Given the description of an element on the screen output the (x, y) to click on. 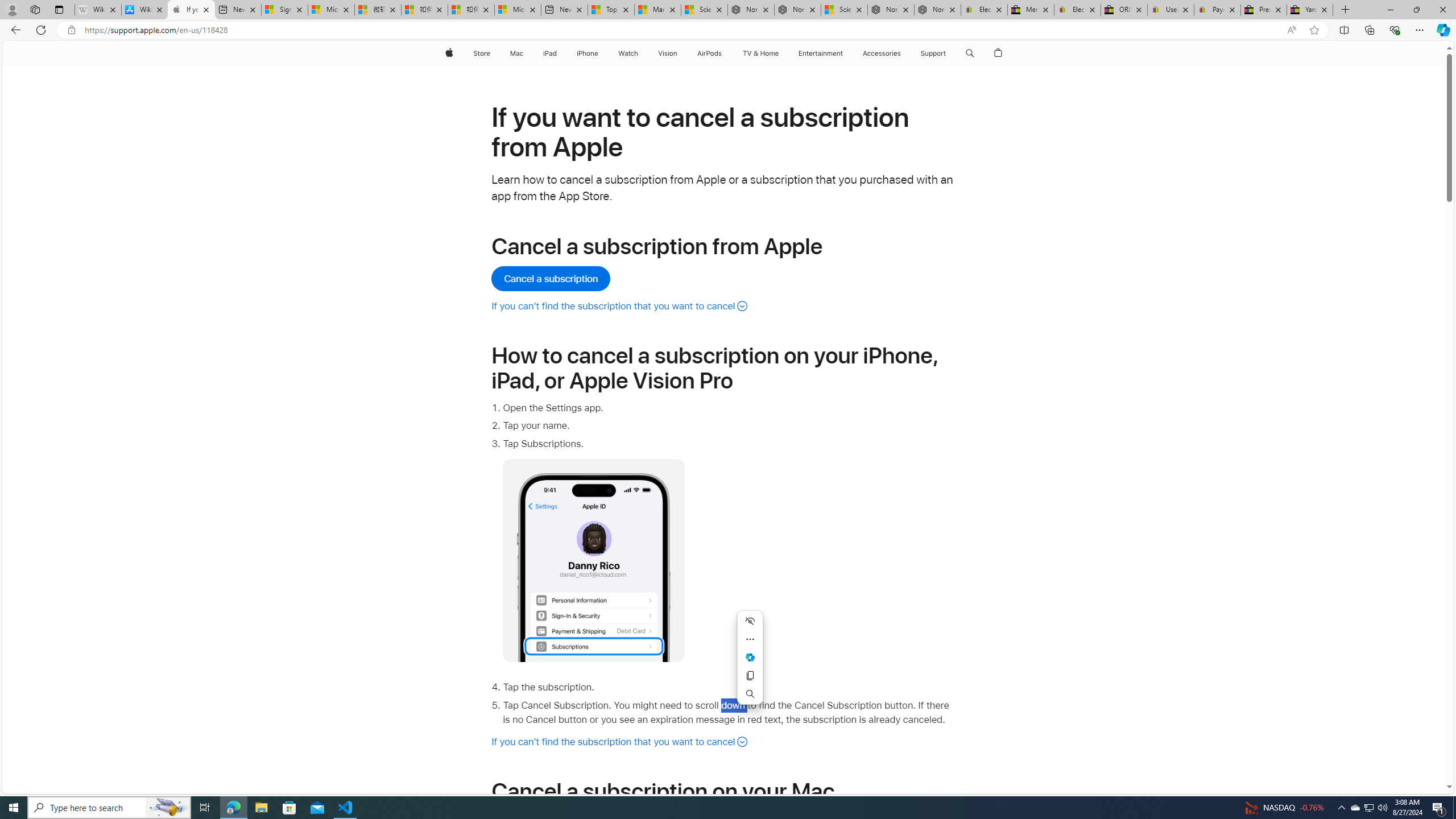
Tap Subscriptions. (729, 549)
AirPods menu (723, 53)
New tab (563, 9)
AirPods (709, 53)
iPhone (587, 53)
Ask Copilot (750, 657)
Watch (627, 53)
Support menu (948, 53)
Minimize (1390, 9)
Shopping Bag (998, 53)
TV & Home (759, 53)
TV and Home (759, 53)
Watch (627, 53)
